Given the description of an element on the screen output the (x, y) to click on. 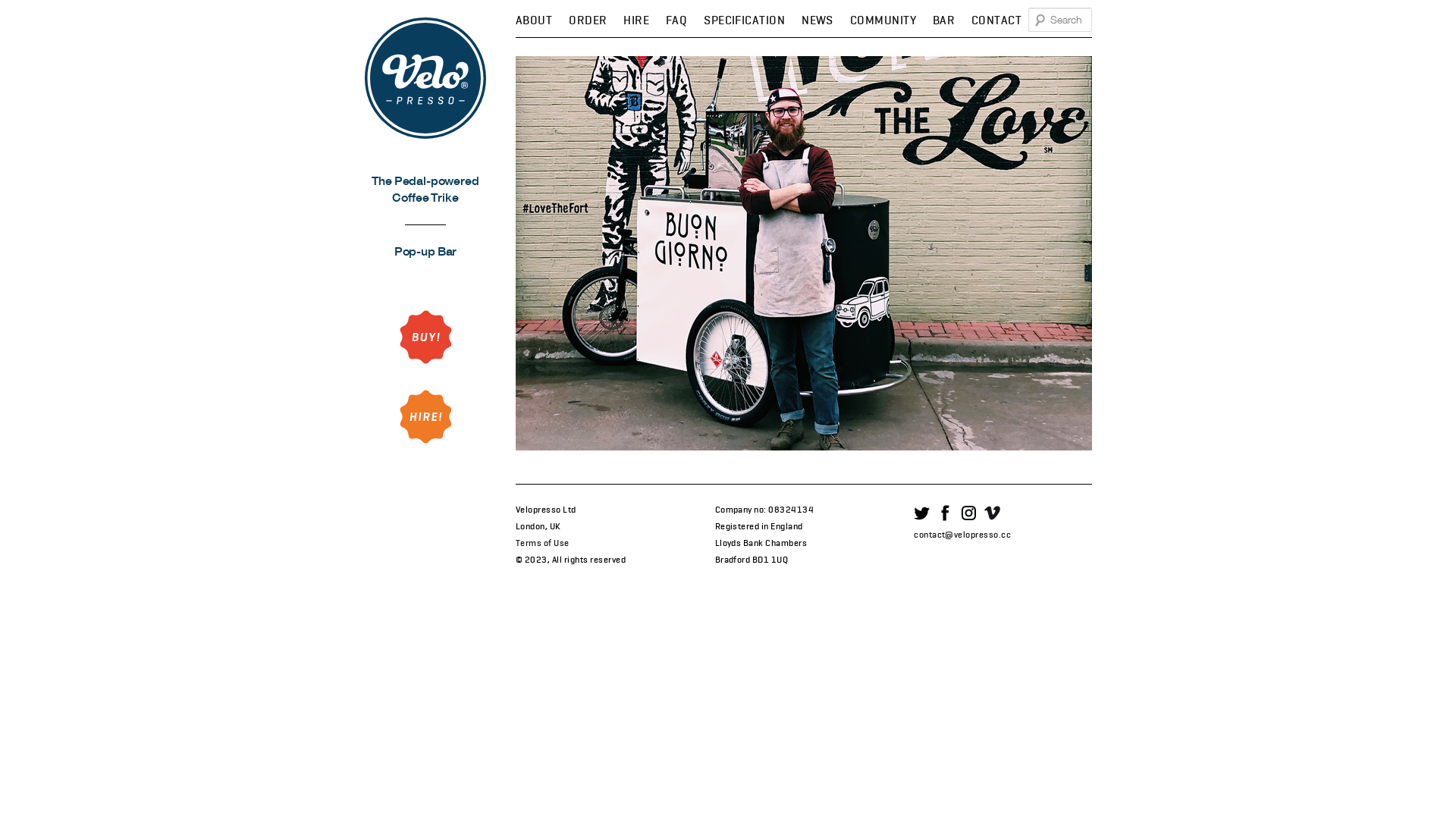
Search Element type: text (24, 10)
SKIP TO SECONDARY CONTENT Element type: text (603, 16)
contact@velopresso.cc Element type: text (961, 533)
ABOUT Element type: text (541, 20)
HIRE Element type: text (643, 20)
SKIP TO PRIMARY CONTENT Element type: text (594, 16)
Velopresso Element type: text (425, 77)
BAR Element type: text (950, 20)
Terms of Use Element type: text (542, 542)
COMMUNITY Element type: text (890, 20)
ORDER Element type: text (594, 20)
SPECIFICATION Element type: text (751, 20)
NEWS Element type: text (824, 20)
FAQ Element type: text (683, 20)
CONTACT Element type: text (1003, 20)
